Given the description of an element on the screen output the (x, y) to click on. 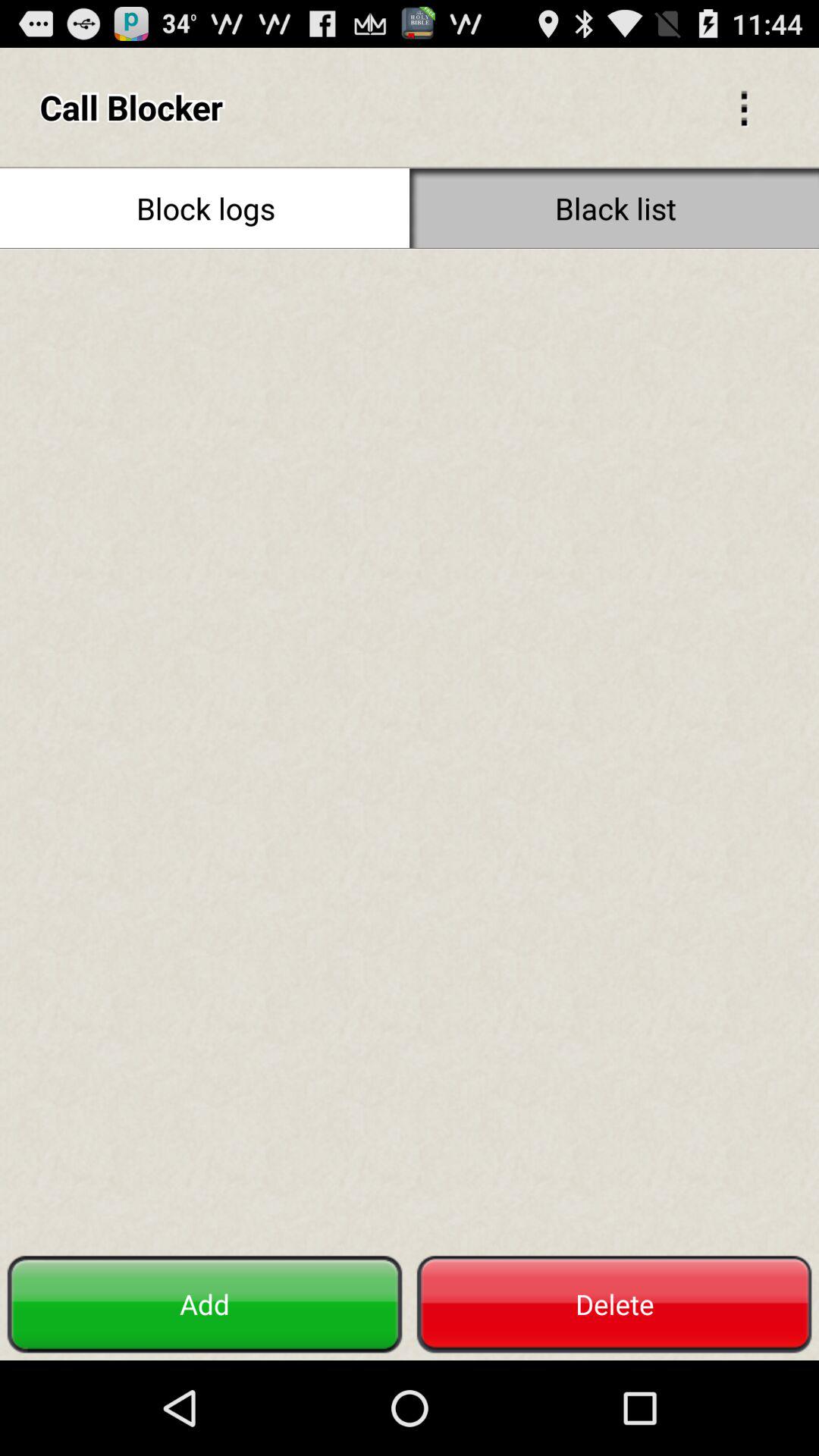
launch block logs at the top left corner (204, 207)
